Given the description of an element on the screen output the (x, y) to click on. 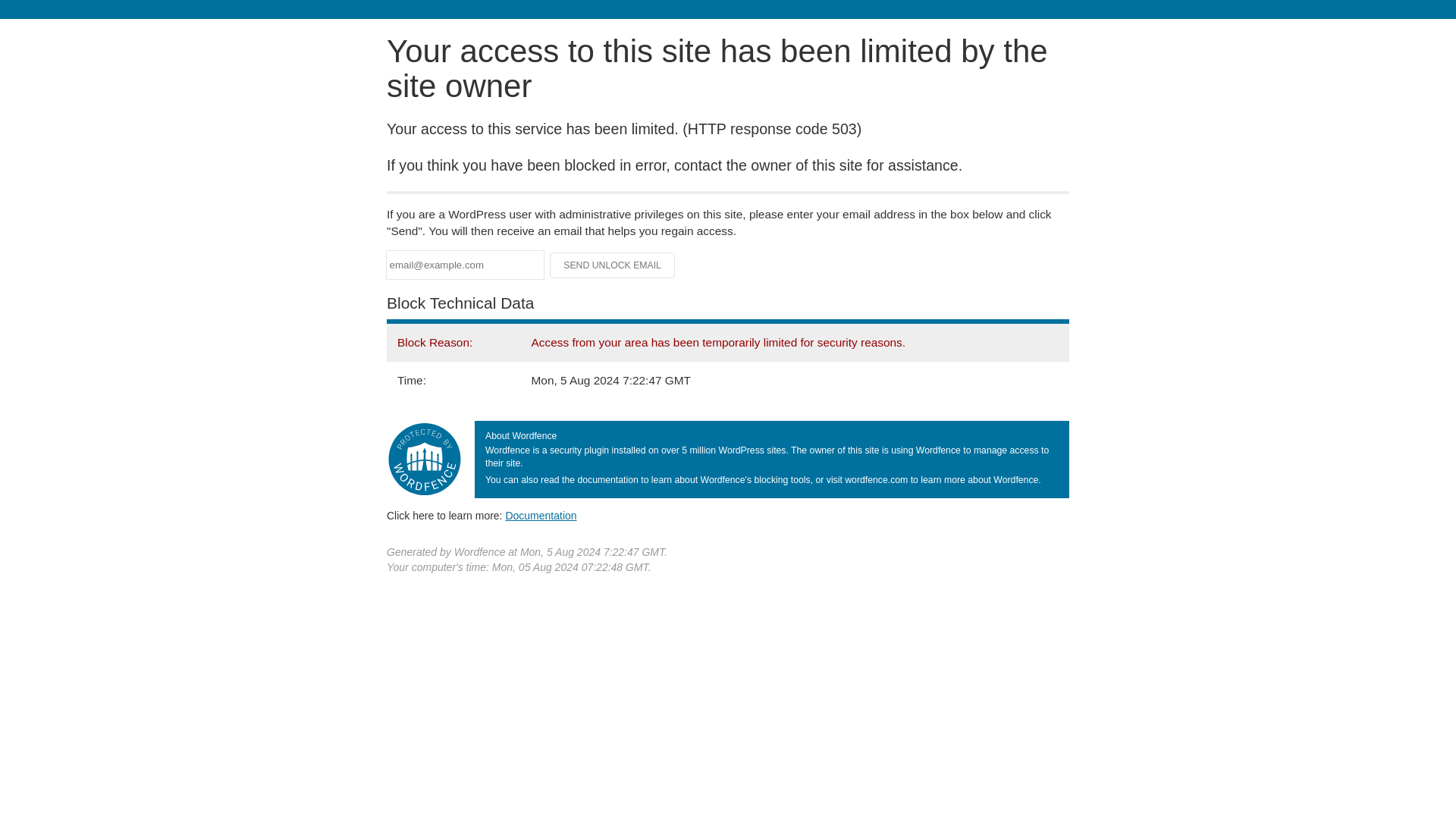
Send Unlock Email (612, 265)
Send Unlock Email (612, 265)
Documentation (540, 515)
